Given the description of an element on the screen output the (x, y) to click on. 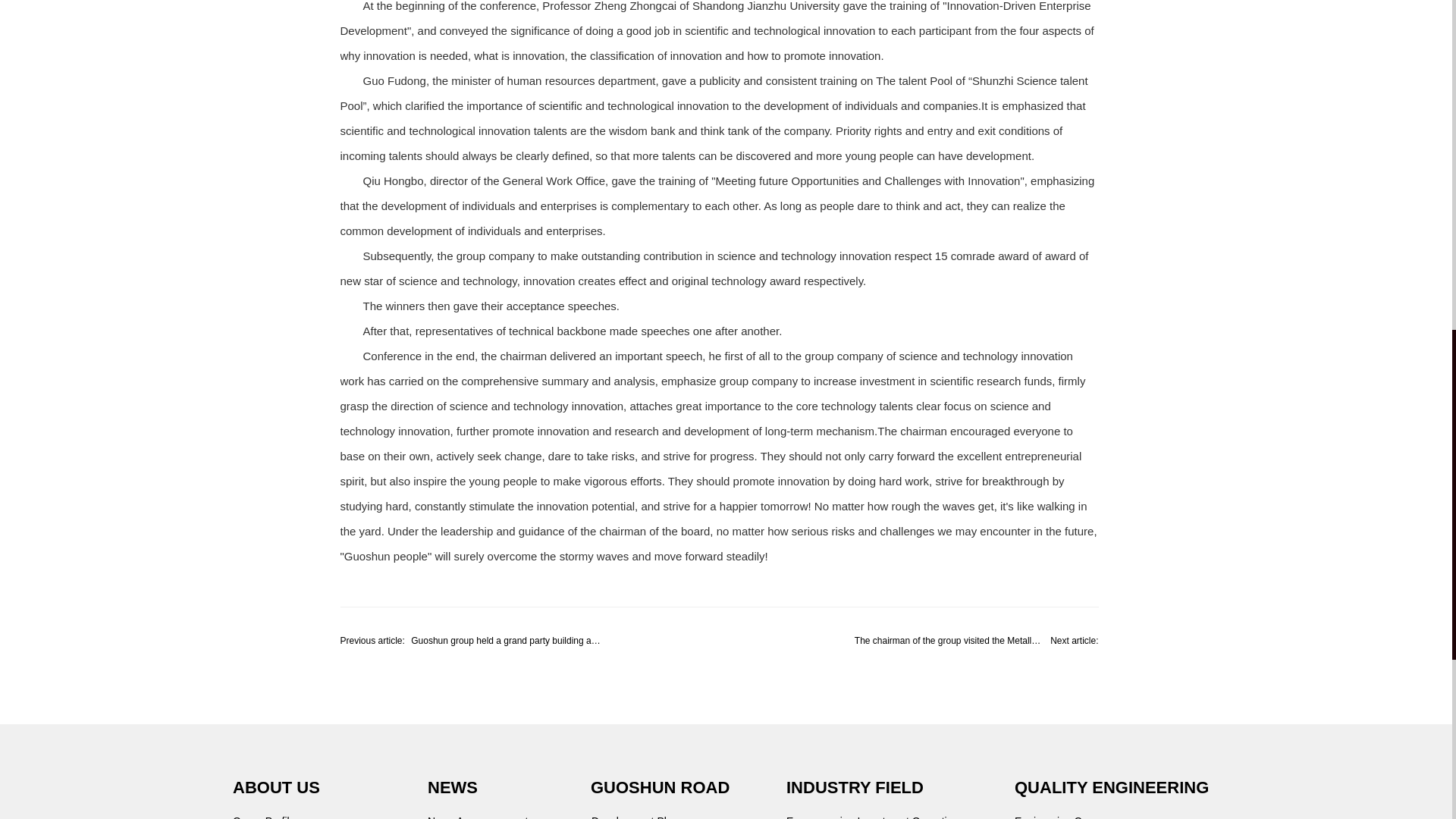
Development Plan (634, 816)
Group Profile (263, 816)
News Announcement (477, 816)
